Given the description of an element on the screen output the (x, y) to click on. 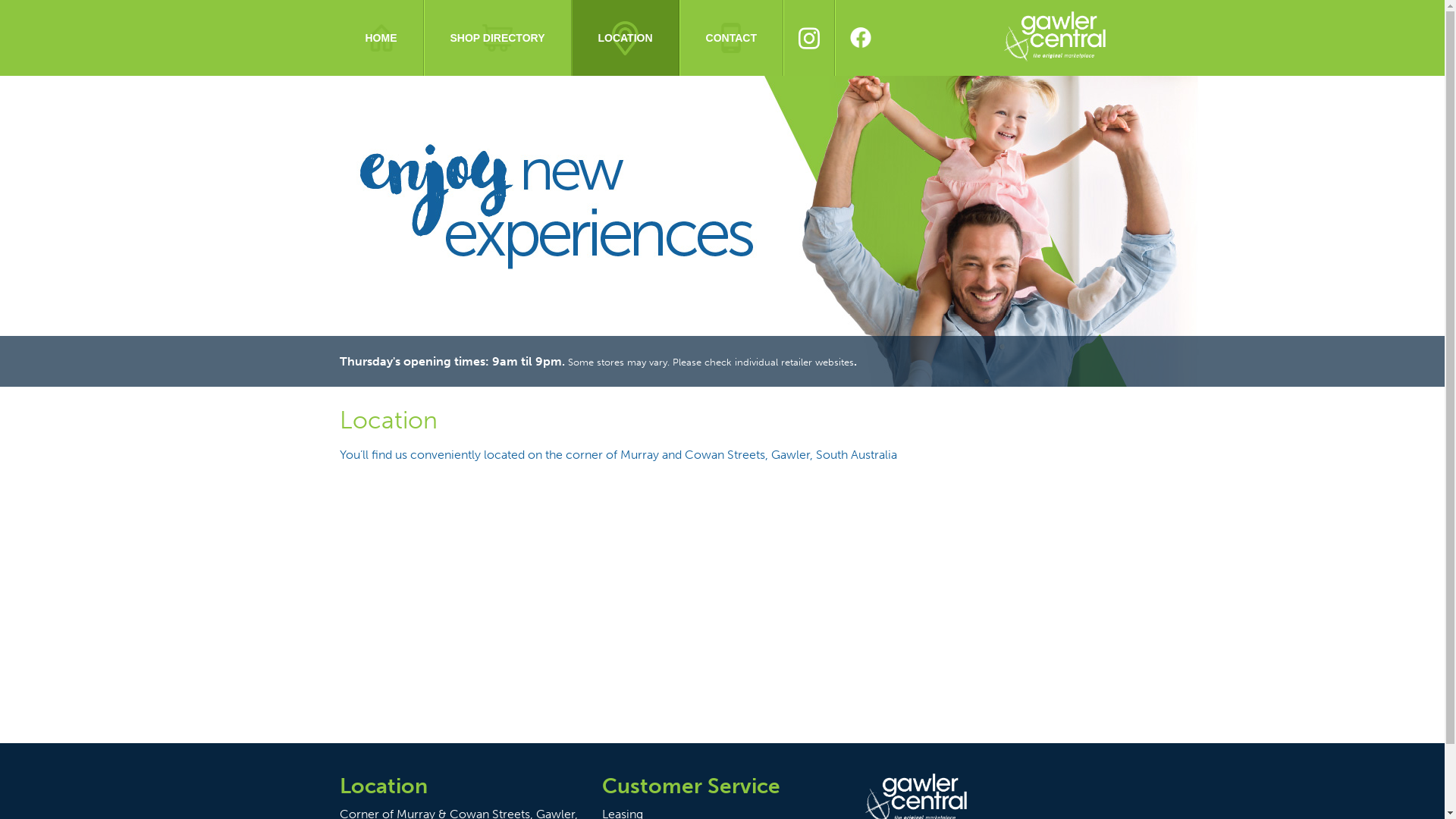
INSTAGRAM Element type: text (808, 37)
CONTACT Element type: text (731, 37)
LOCATION Element type: text (625, 37)
HOME Element type: text (381, 37)
SHOP DIRECTORY Element type: text (497, 37)
FACEBOOK Element type: text (859, 37)
